Given the description of an element on the screen output the (x, y) to click on. 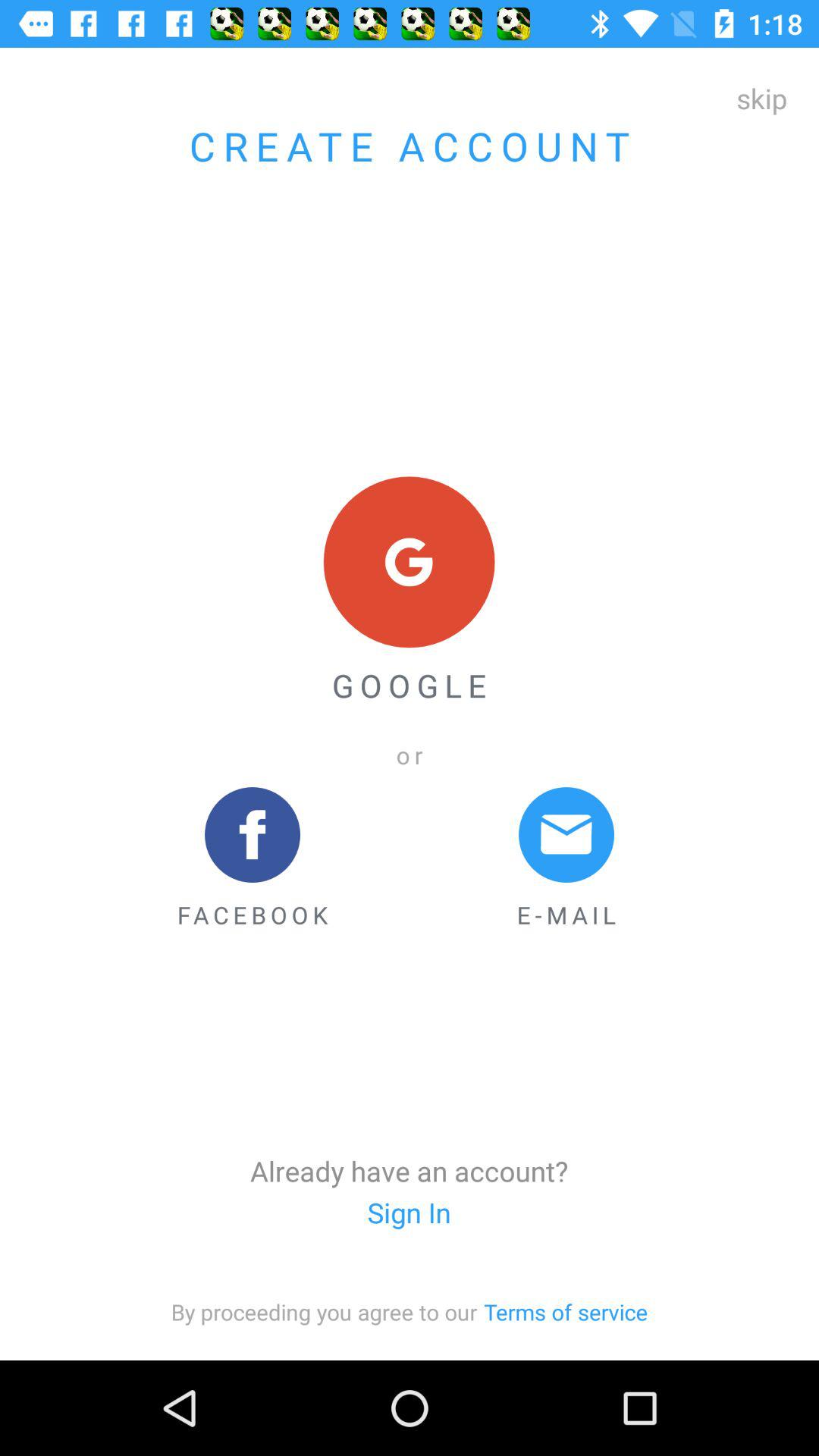
turn off item to the right of the create account (761, 98)
